Given the description of an element on the screen output the (x, y) to click on. 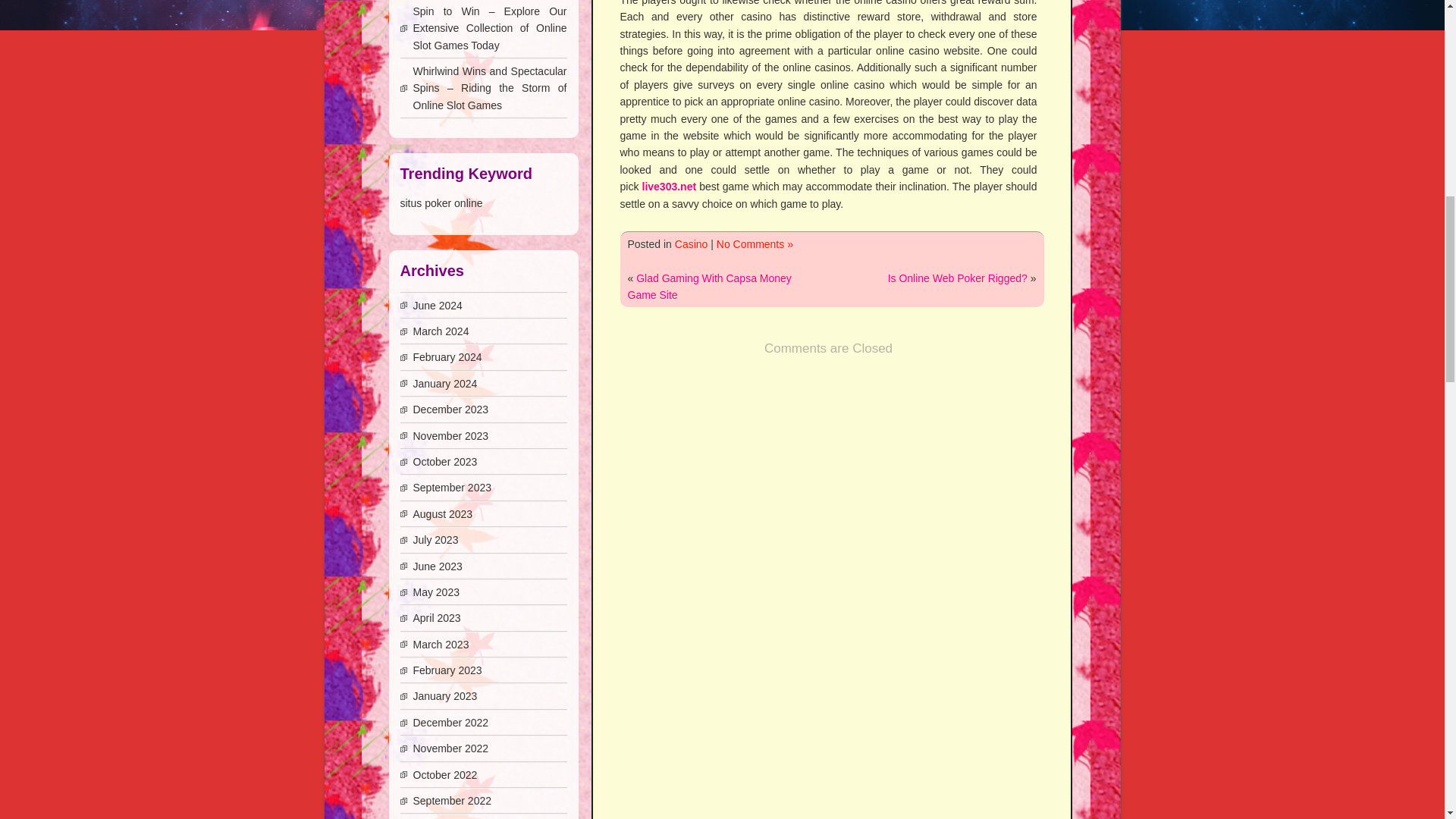
December 2022 (449, 722)
March 2023 (440, 644)
October 2023 (444, 461)
live303.net (669, 186)
June 2023 (436, 566)
January 2023 (444, 695)
May 2023 (435, 592)
January 2024 (444, 383)
September 2023 (452, 487)
Casino (691, 244)
